Given the description of an element on the screen output the (x, y) to click on. 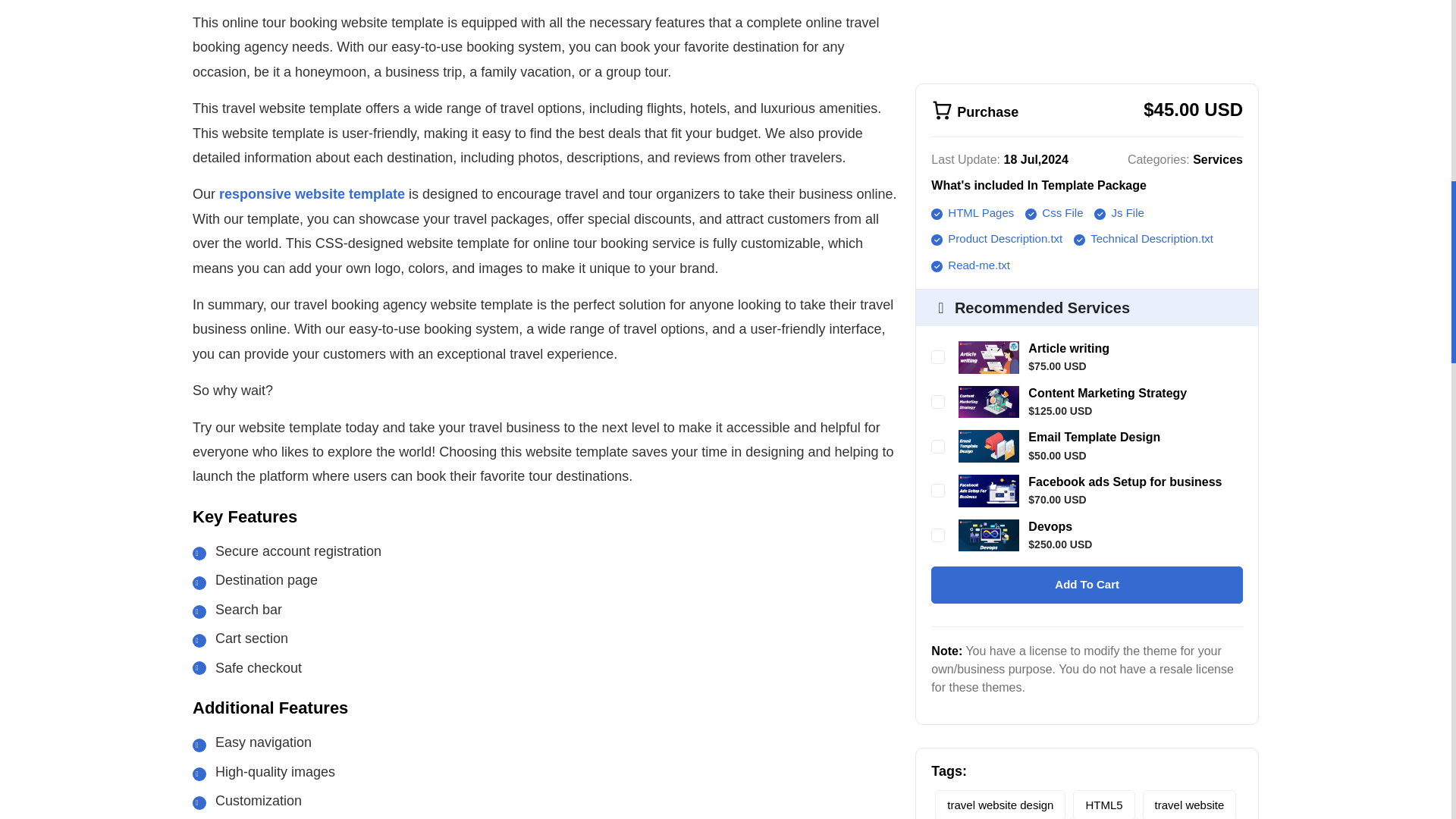
responsive website template (311, 193)
